Given the description of an element on the screen output the (x, y) to click on. 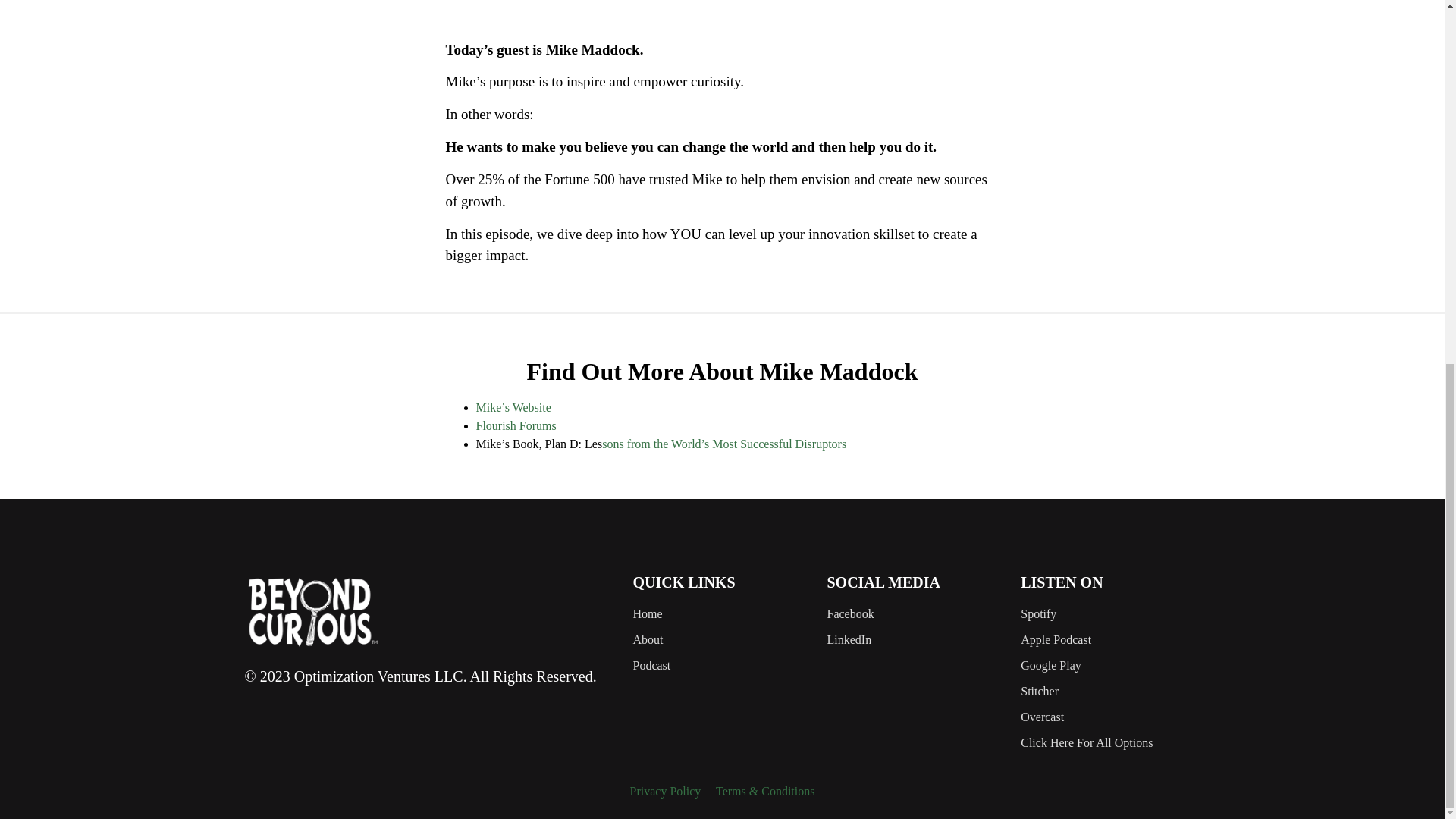
Spotify (1109, 614)
Podcast (720, 665)
LinkedIn (916, 639)
Google Play (1109, 665)
Overcast (1109, 717)
Stitcher (1109, 691)
Click Here For All Options (1109, 742)
Facebook (916, 614)
Apple Podcast (1109, 639)
About (720, 639)
Home (720, 614)
Flourish Forums (516, 425)
